Given the description of an element on the screen output the (x, y) to click on. 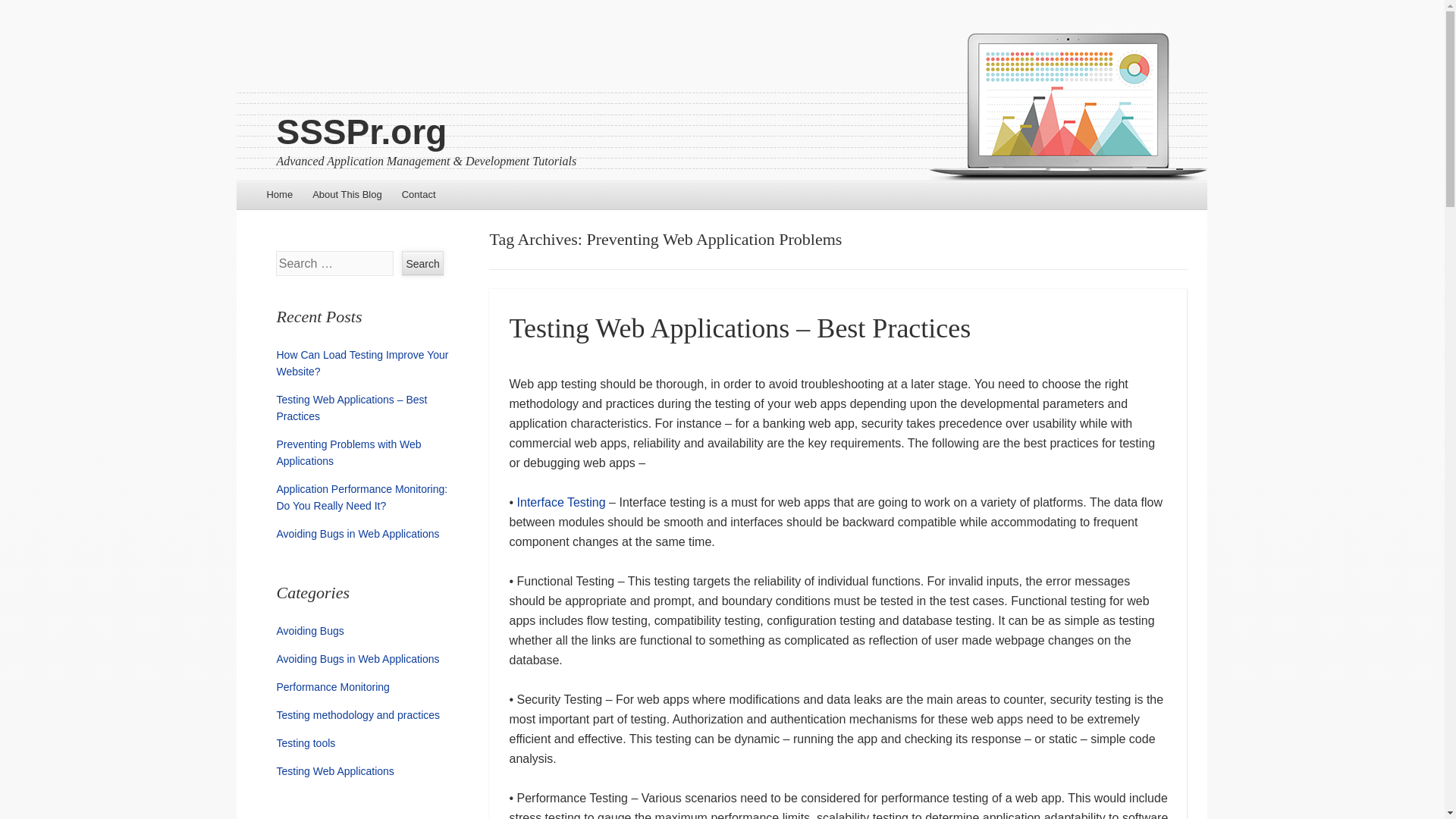
Search (422, 263)
Home (279, 194)
How Can Load Testing Improve Your Website? (362, 363)
SSSPr.org (361, 131)
Interface Testing (560, 502)
Skip to content (278, 194)
Skip to content (278, 194)
About This Blog (346, 194)
Search (422, 263)
SSSPr.org (361, 131)
Contact (418, 194)
